Given the description of an element on the screen output the (x, y) to click on. 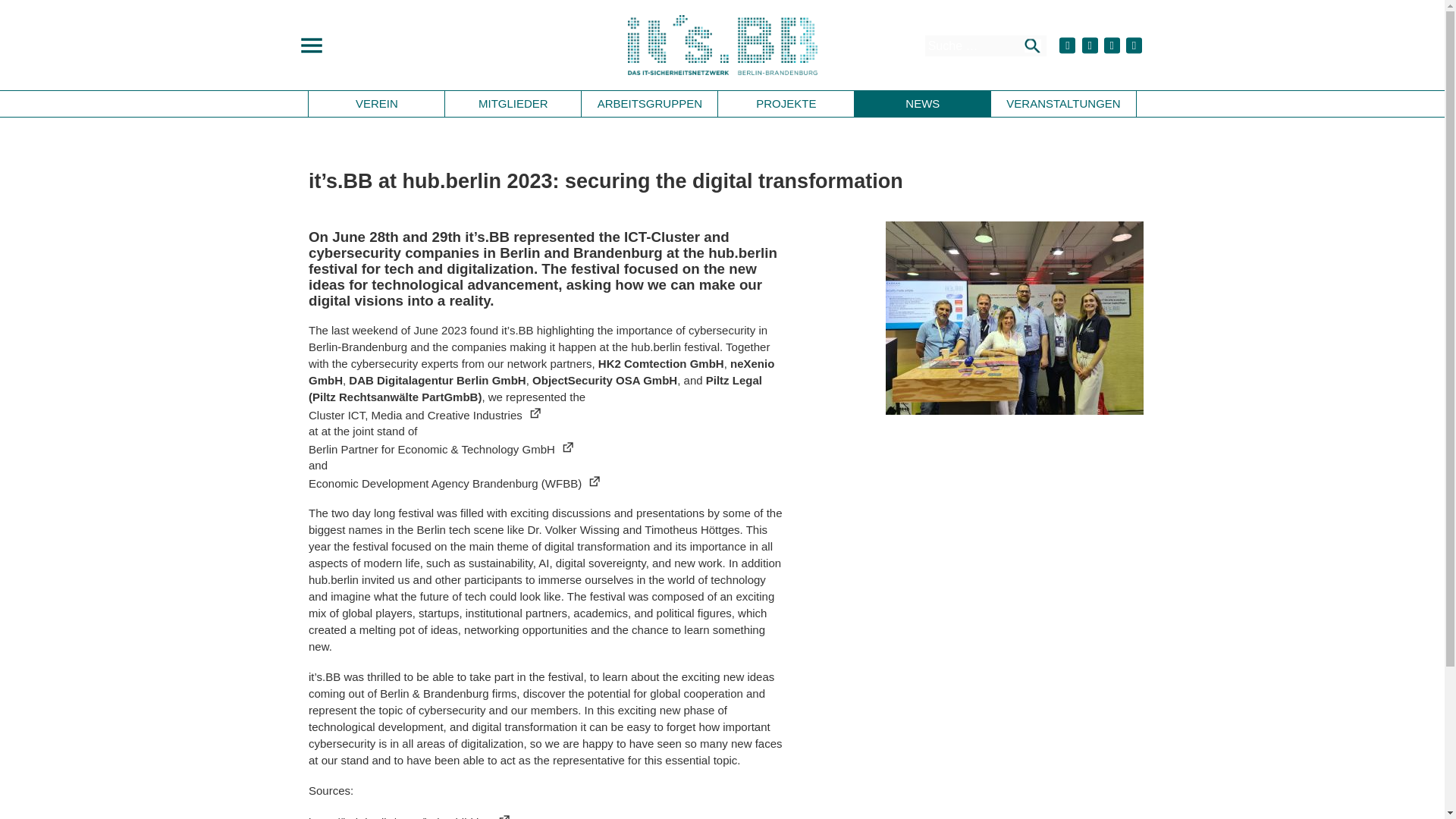
mail (1133, 45)
Cluster ICT, Media and Creative Industries (547, 414)
PROJEKTE (785, 103)
ARBEITSGRUPPEN (648, 103)
MITGLIEDER (512, 103)
Twitter (1067, 45)
twitter (1067, 45)
Default Label (1133, 45)
Instagram (1111, 45)
linkedin (1111, 45)
VERANSTALTUNGEN (1063, 103)
xing (1089, 45)
NEWS (922, 103)
